Given the description of an element on the screen output the (x, y) to click on. 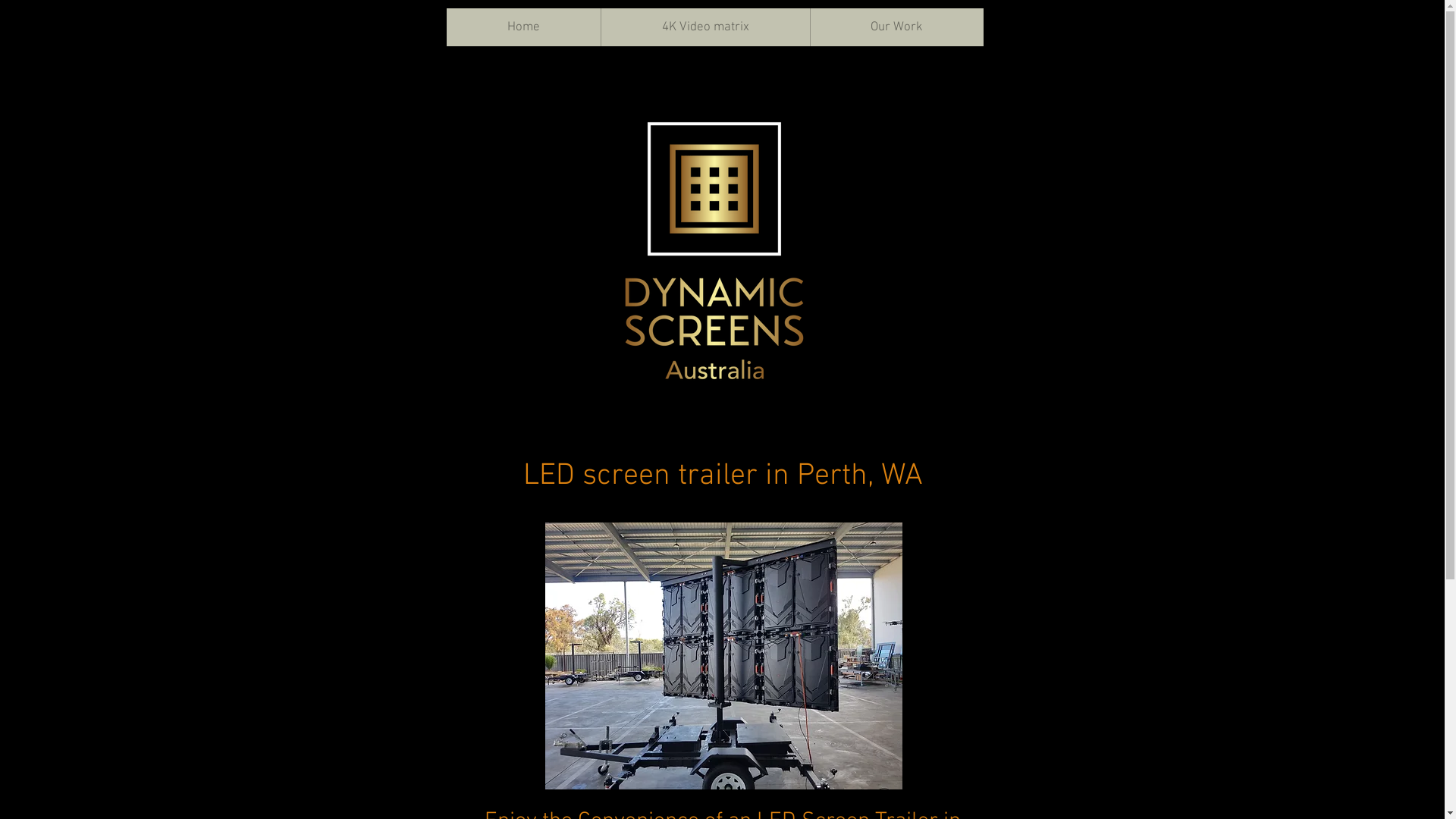
Our Work Element type: text (896, 27)
Home Element type: text (522, 27)
4K Video matrix Element type: text (704, 27)
